Given the description of an element on the screen output the (x, y) to click on. 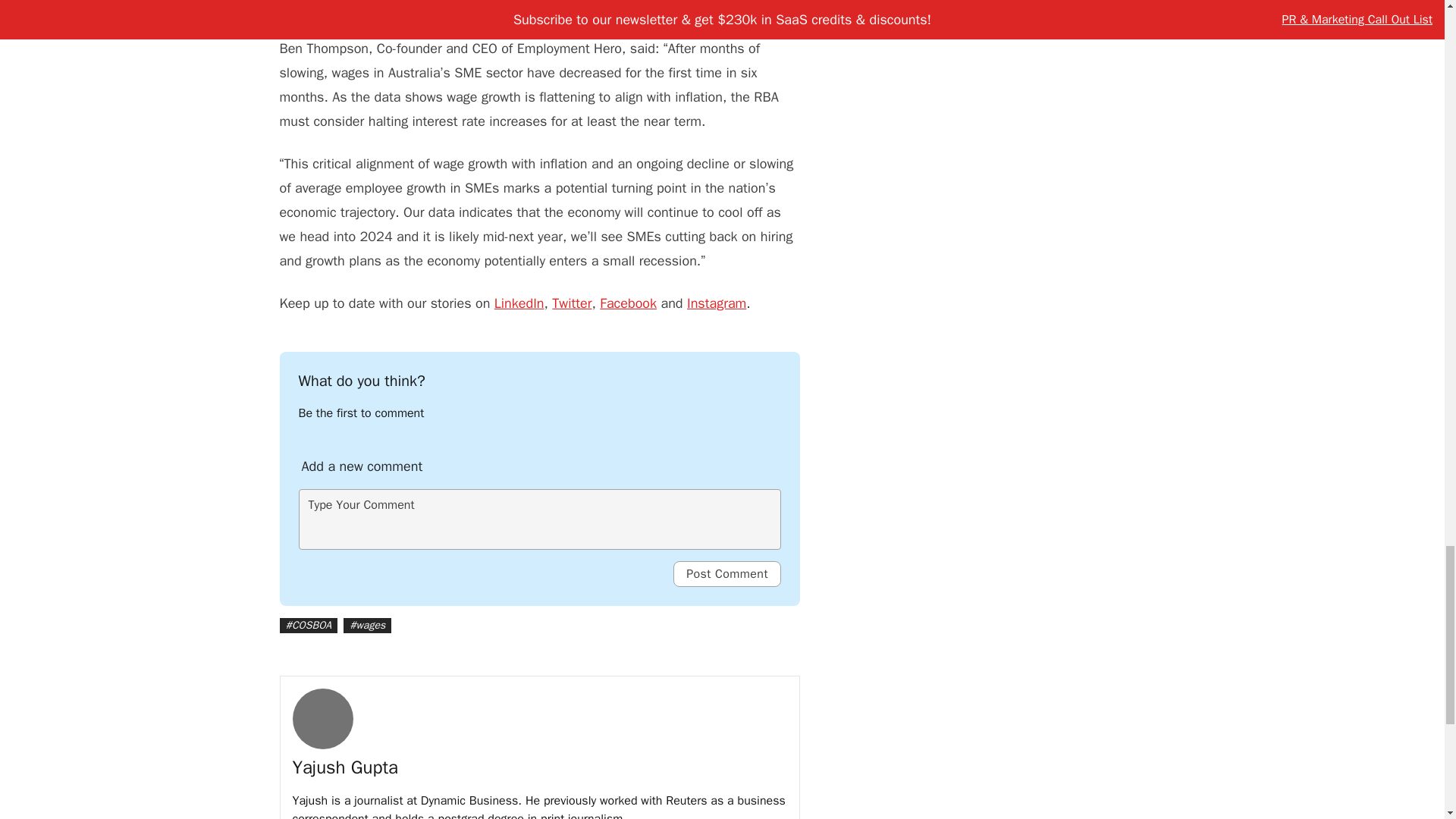
Post Comment (726, 574)
Facebook (627, 303)
Twitter (571, 303)
Instagram (716, 303)
LinkedIn (519, 303)
